Given the description of an element on the screen output the (x, y) to click on. 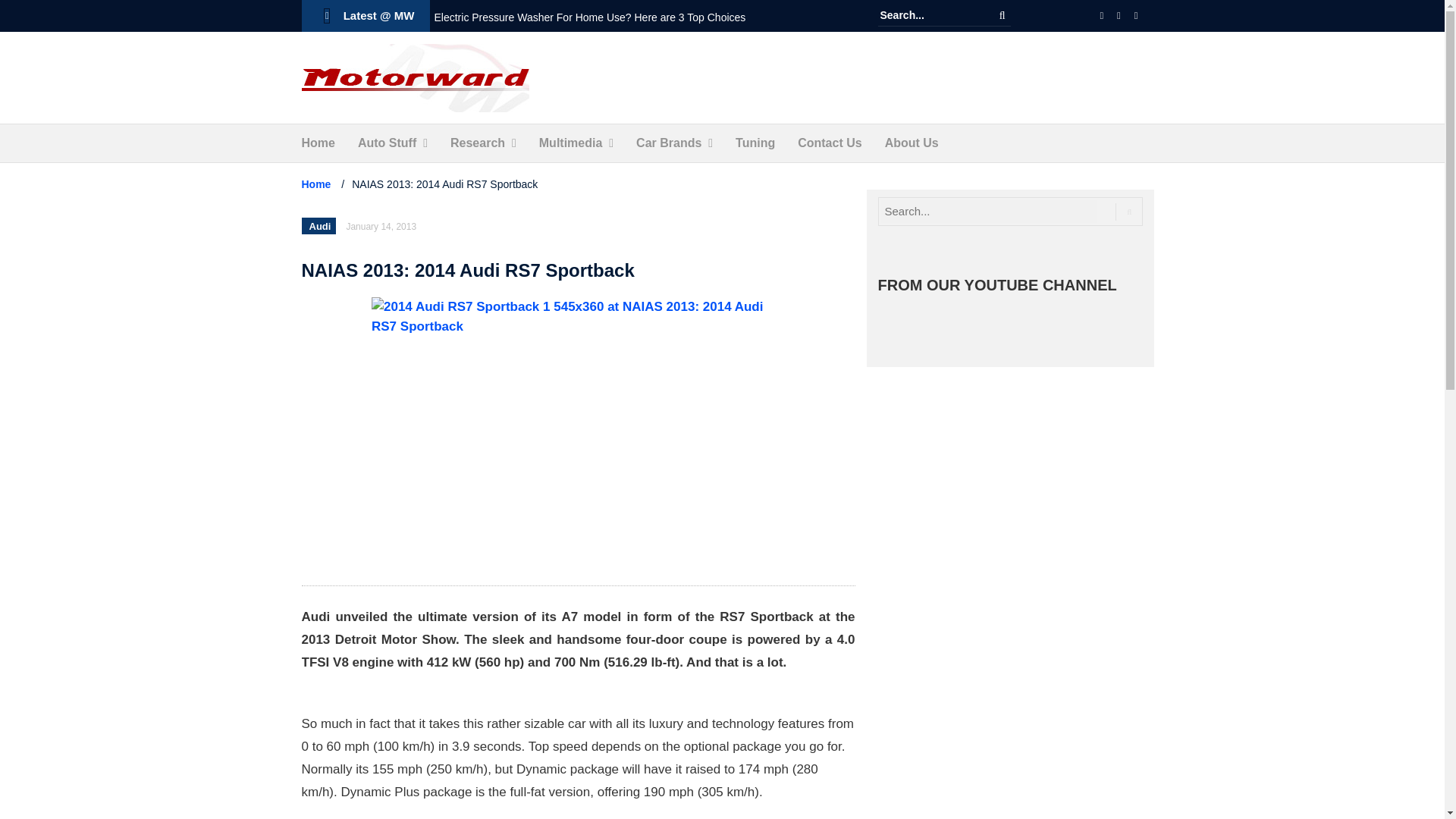
Research (477, 143)
Car Brands (668, 143)
Home (317, 143)
Multimedia (570, 143)
2014 Audi RS7 Sportback 1 545x360 (577, 433)
Auto Stuff (387, 143)
Search   (1002, 14)
